Given the description of an element on the screen output the (x, y) to click on. 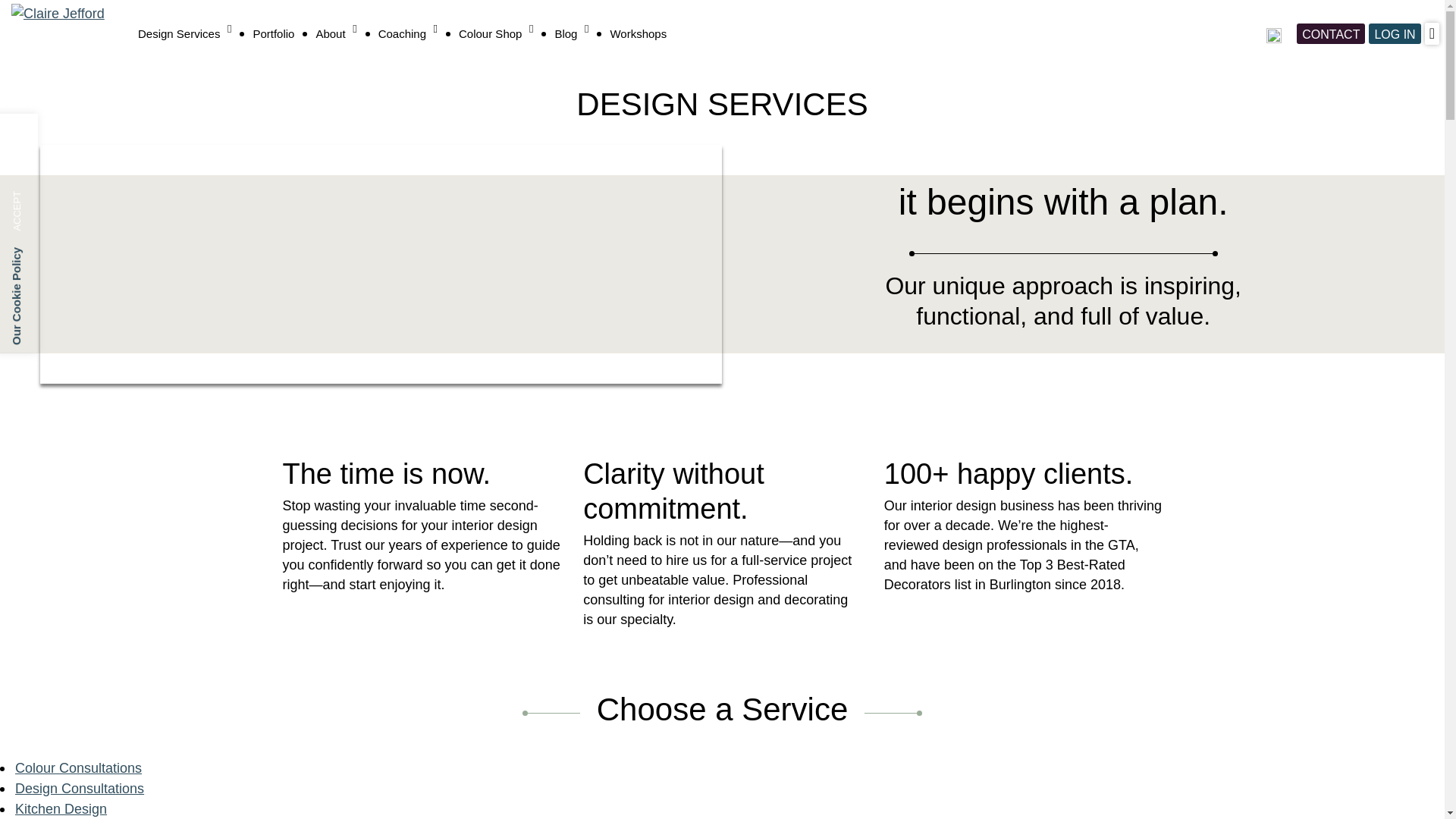
Colour Shop (495, 33)
Design Services (184, 33)
Workshops (638, 33)
Kitchen Design (60, 808)
LOG IN (1394, 33)
Blog (571, 33)
About (335, 33)
Portfolio (272, 33)
Coaching (408, 33)
Colour Consultations (77, 767)
